Given the description of an element on the screen output the (x, y) to click on. 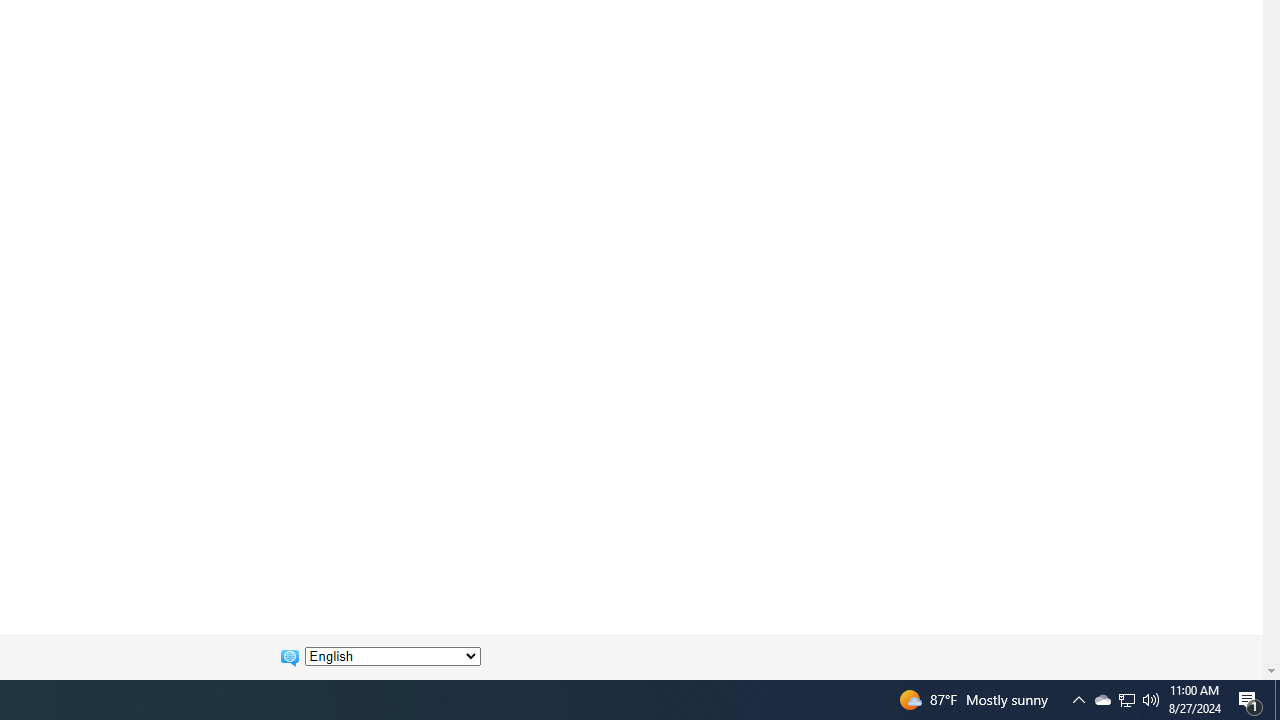
Change language: (392, 656)
